Given the description of an element on the screen output the (x, y) to click on. 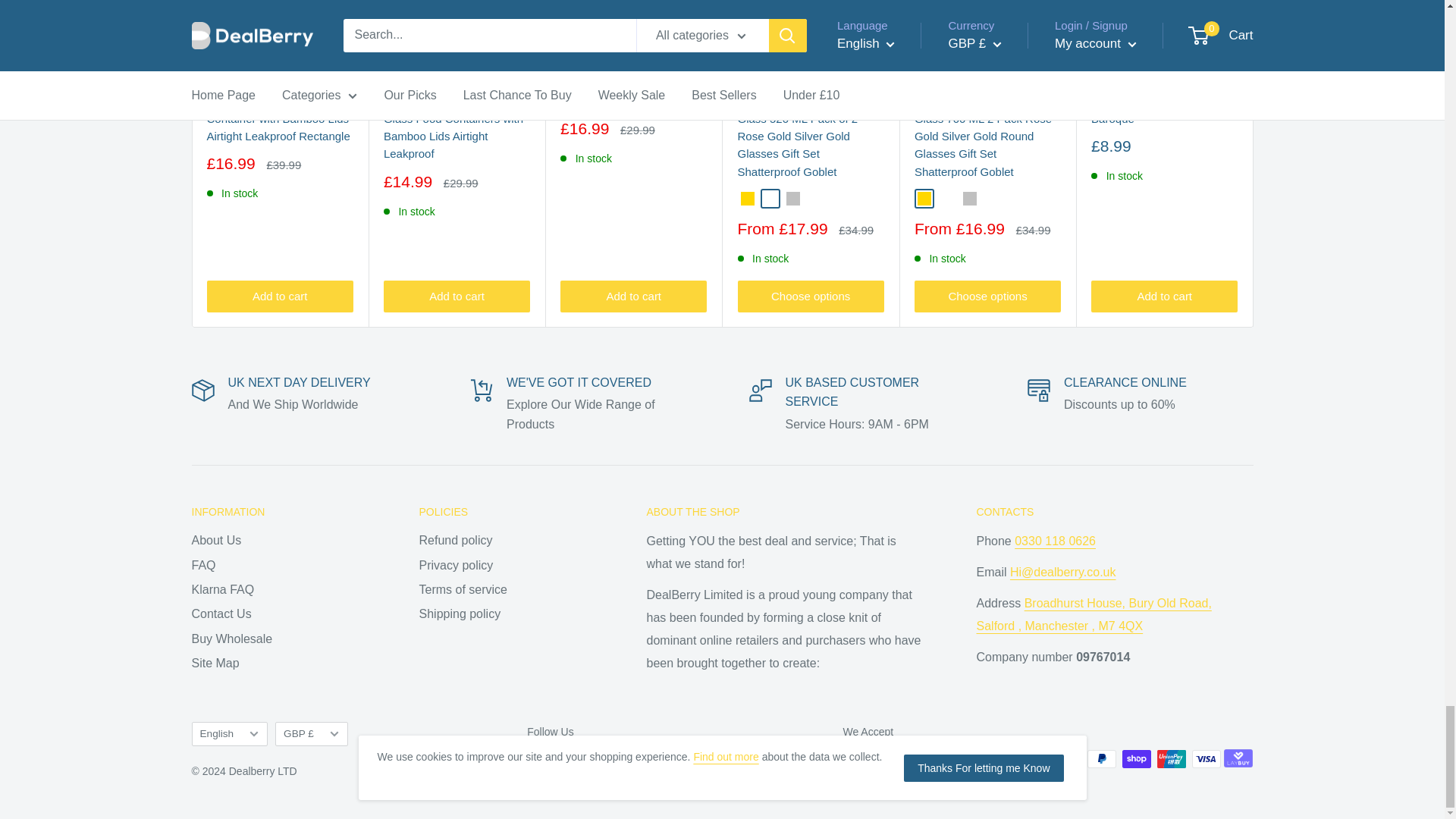
Silver (792, 198)
Gold (746, 198)
Rose Gold (946, 198)
Maps (1093, 614)
Rose Gold (769, 198)
Silver (969, 198)
03301180626 (1055, 540)
Gold (924, 198)
